Given the description of an element on the screen output the (x, y) to click on. 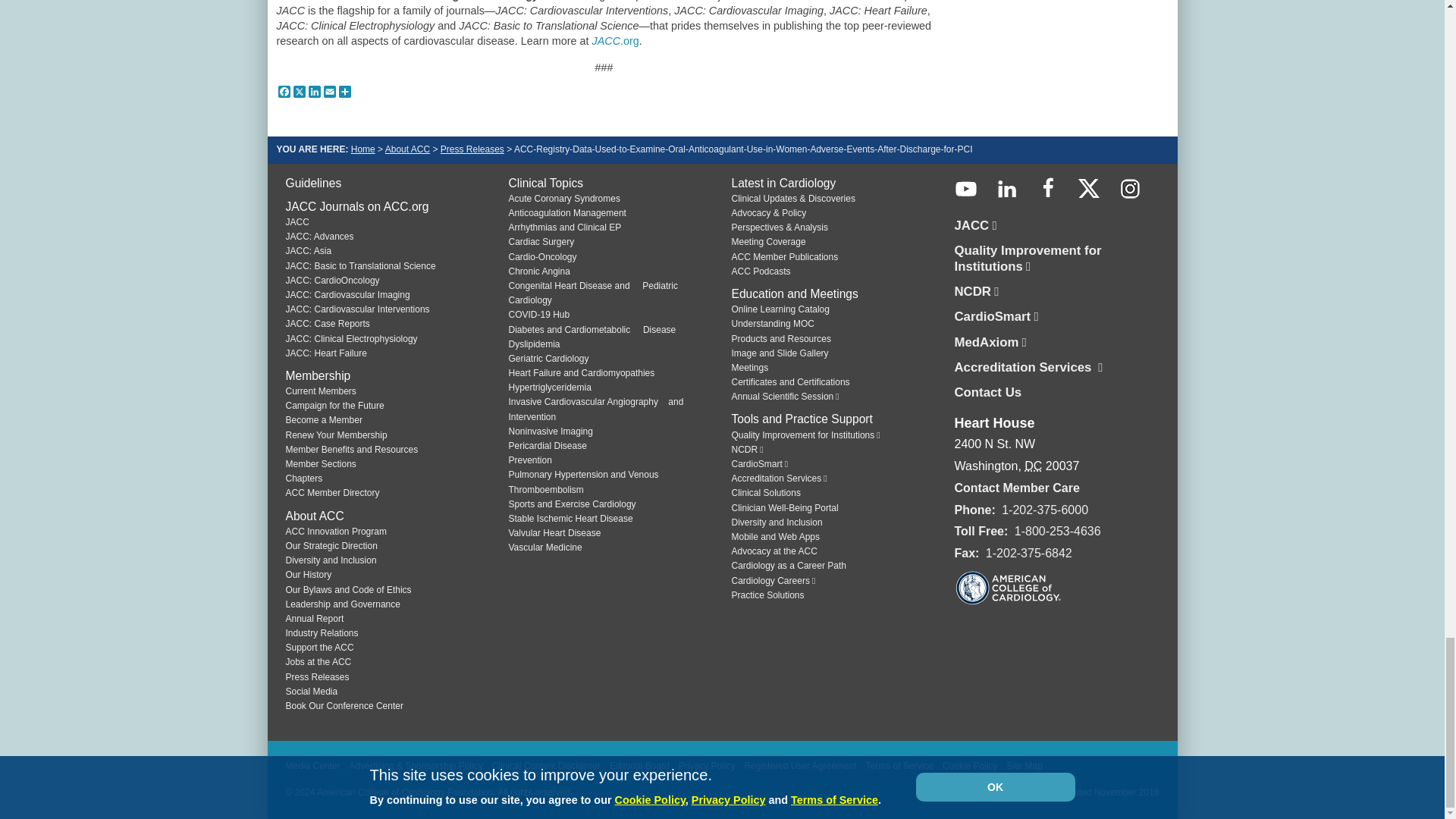
JACC Asia (308, 250)
JACC: Cardiovascular Imaging (347, 294)
JACC: Cardiovascular Interventions (357, 308)
Guidelines (312, 182)
JACC: Advances (319, 235)
